Given the description of an element on the screen output the (x, y) to click on. 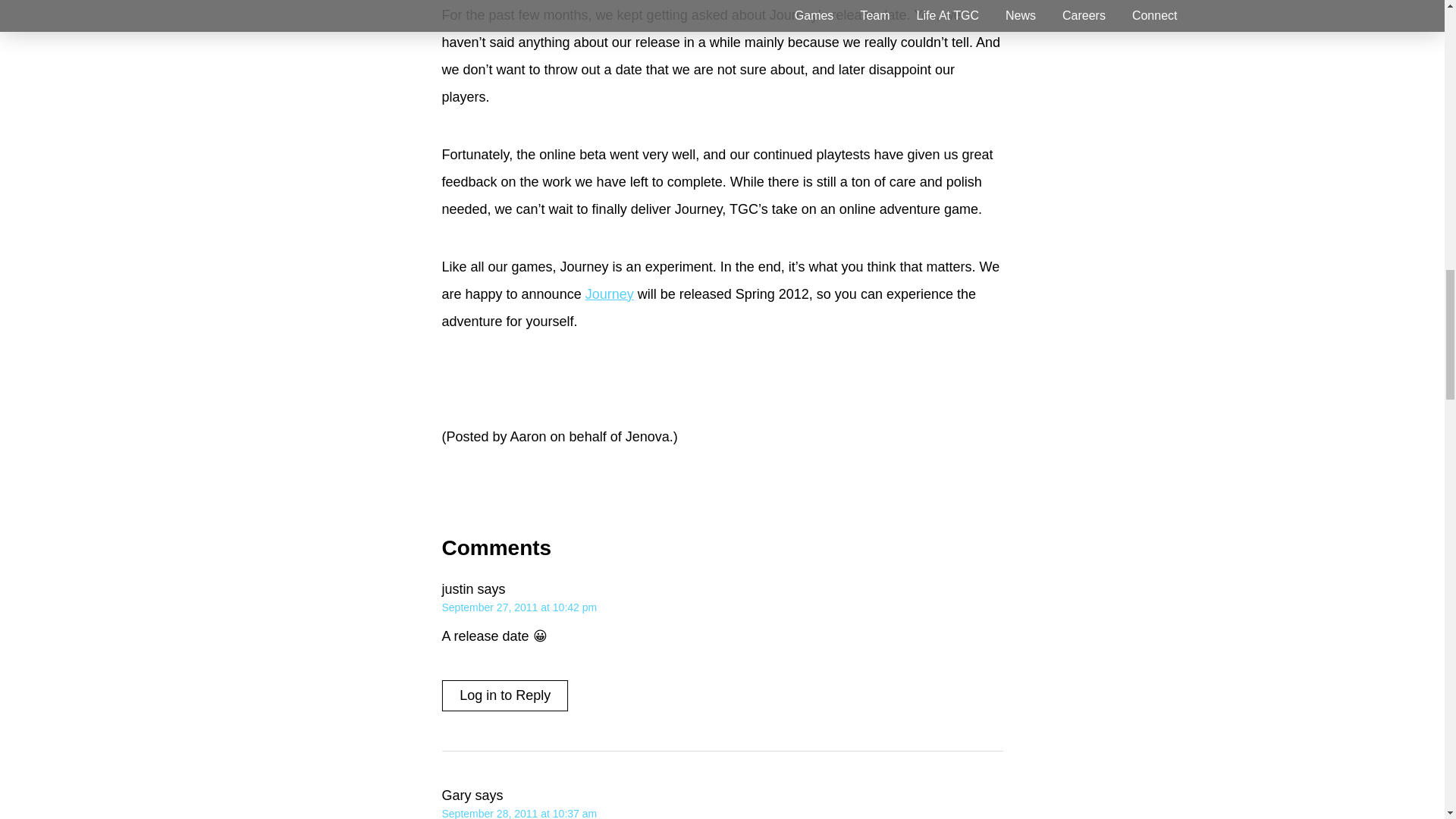
Log in to Reply (505, 694)
Uncategorized (568, 492)
Journey (609, 294)
September 28, 2011 at 10:37 am (518, 813)
September 27, 2011 at 10:42 pm (518, 607)
